Given the description of an element on the screen output the (x, y) to click on. 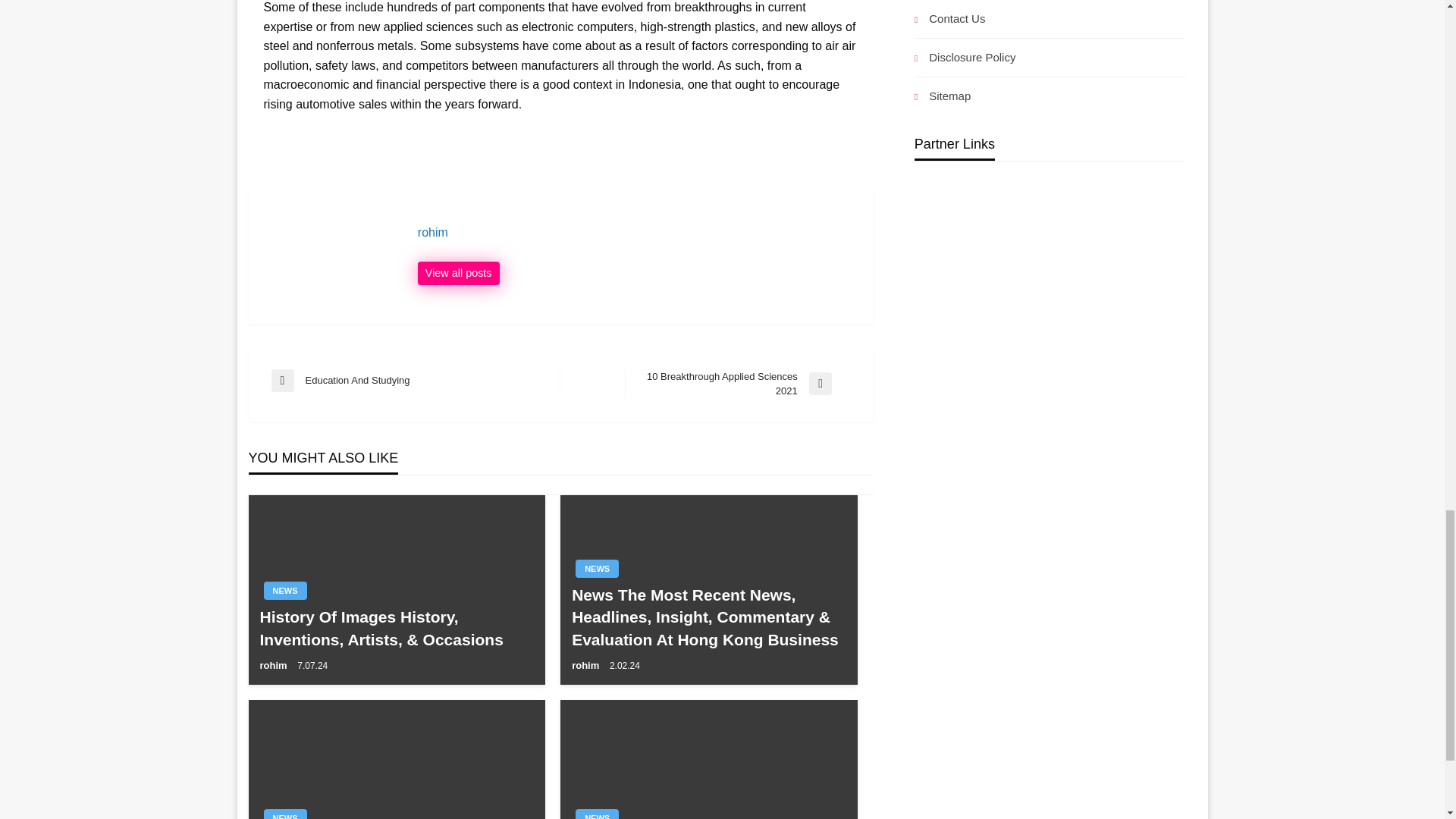
NEWS (596, 814)
NEWS (596, 568)
rohim (737, 383)
View all posts (274, 665)
rohim (458, 273)
NEWS (587, 665)
rohim (285, 814)
rohim (637, 232)
rohim (637, 232)
NEWS (458, 273)
